Given the description of an element on the screen output the (x, y) to click on. 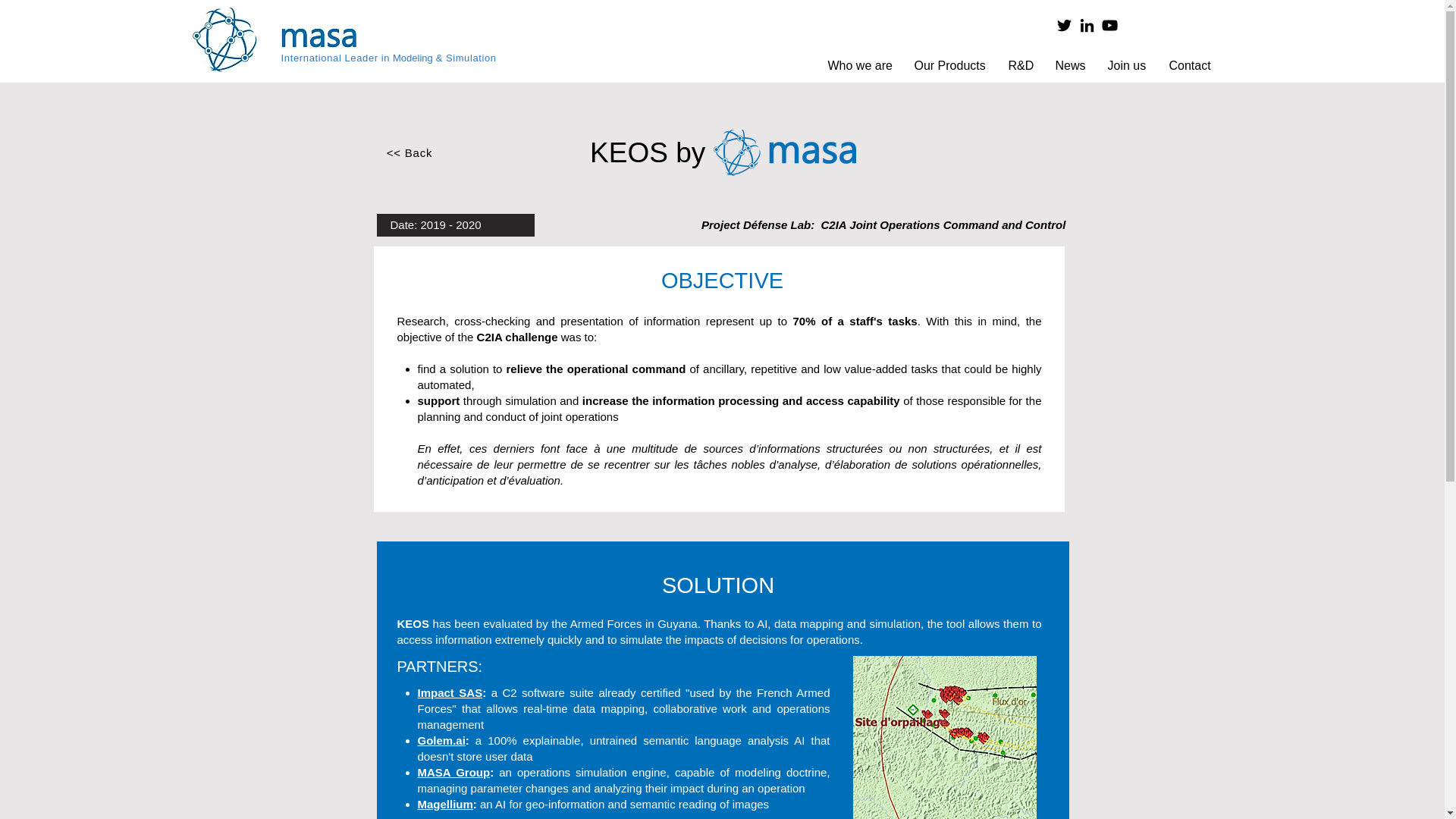
Contact (1190, 66)
Leader (360, 57)
Magellium (443, 803)
News (1069, 66)
International (310, 57)
Impact SAS (448, 692)
Golem.ai (440, 739)
Simulation (470, 57)
Join us (1126, 66)
MASA Group (452, 771)
